Given the description of an element on the screen output the (x, y) to click on. 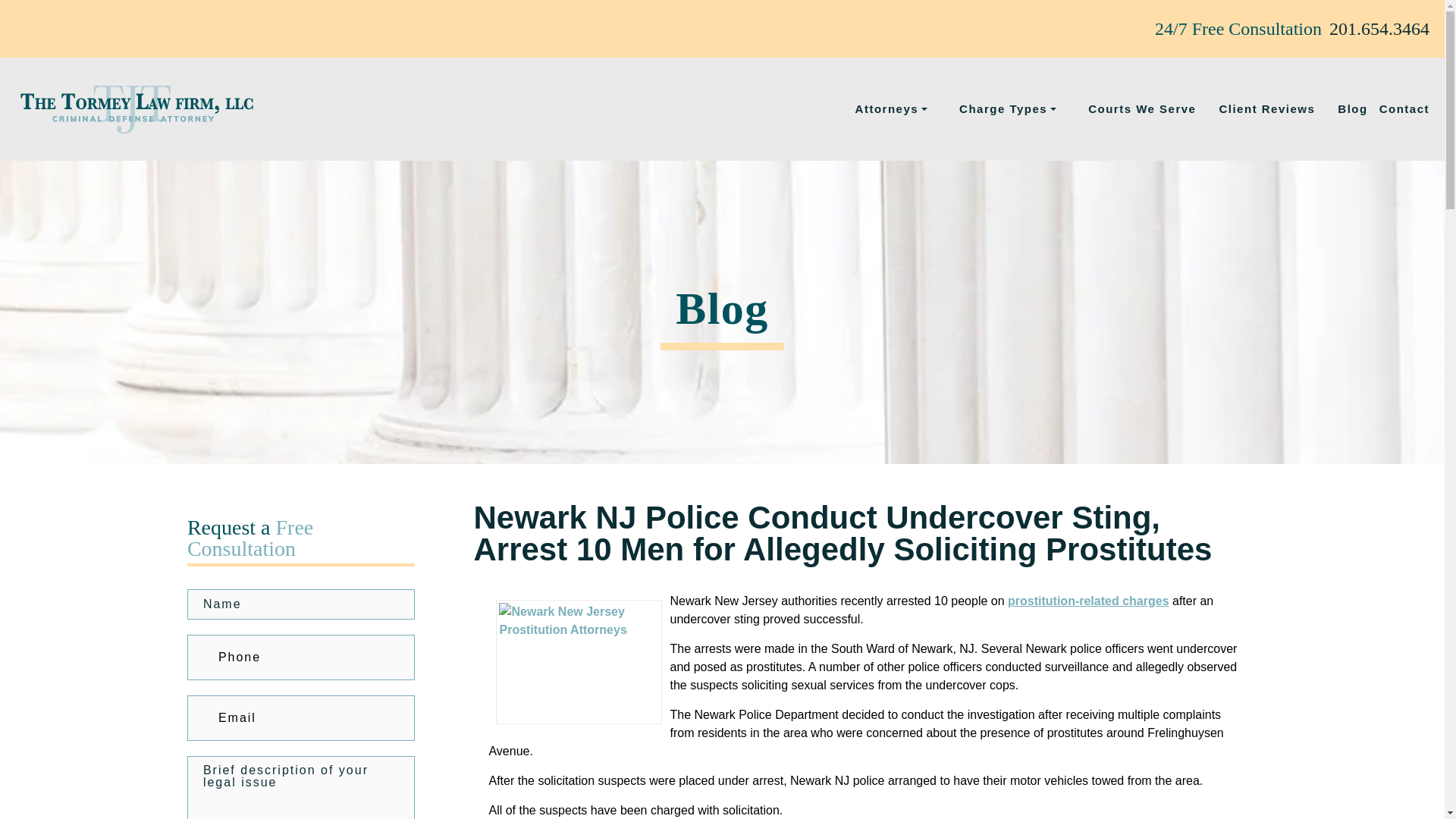
201.654.3464 (1379, 28)
Contact (1403, 108)
Charge Types (1012, 108)
Blog (1352, 108)
The Tormey Law Firm - Essex County NJ Criminal Defense (135, 108)
Newark New Jersey Prostitution Attorneys (579, 661)
Client Reviews (1266, 108)
Attorneys (896, 108)
Courts We Serve (1141, 108)
